Given the description of an element on the screen output the (x, y) to click on. 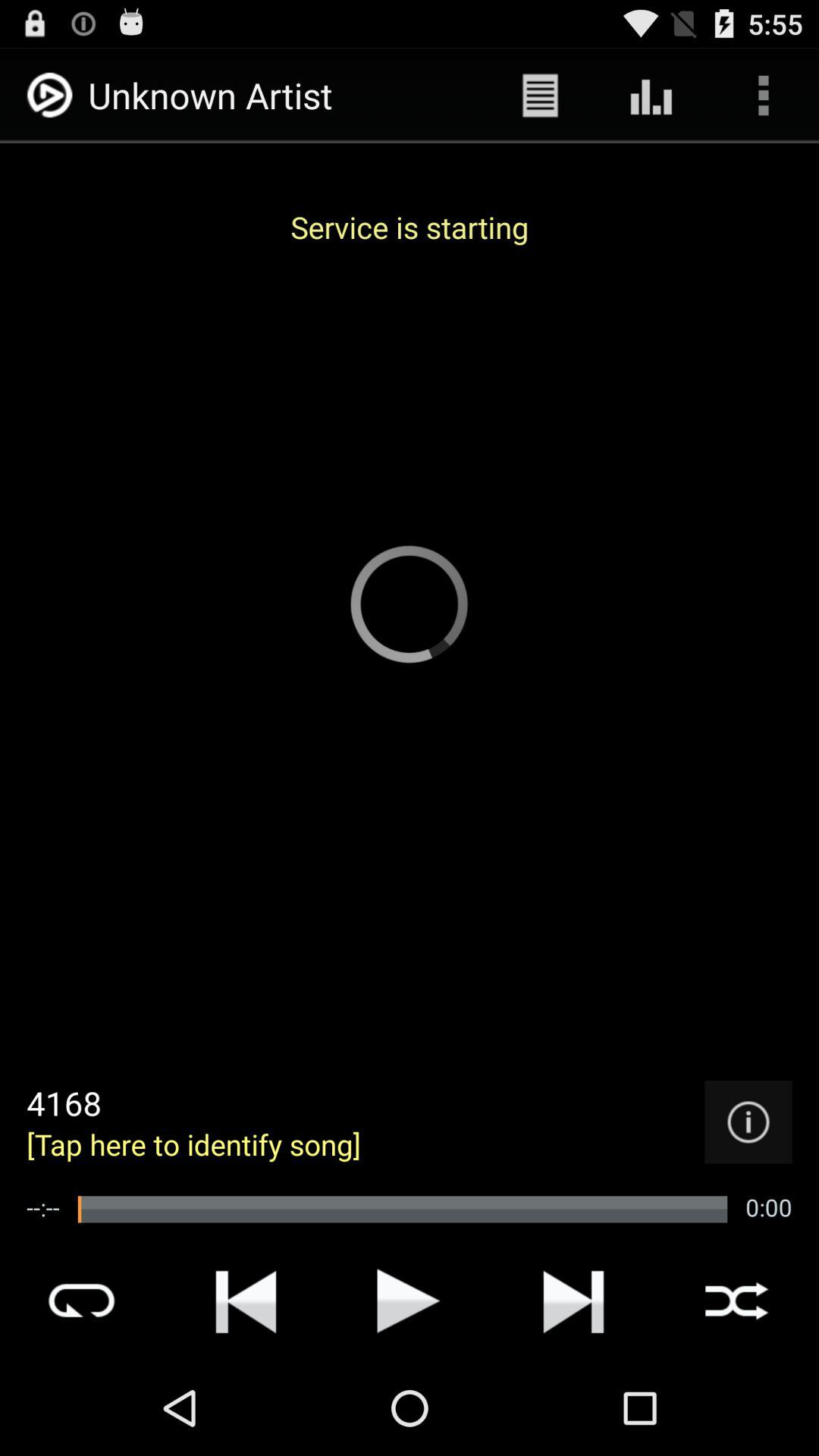
play option (409, 1300)
